Given the description of an element on the screen output the (x, y) to click on. 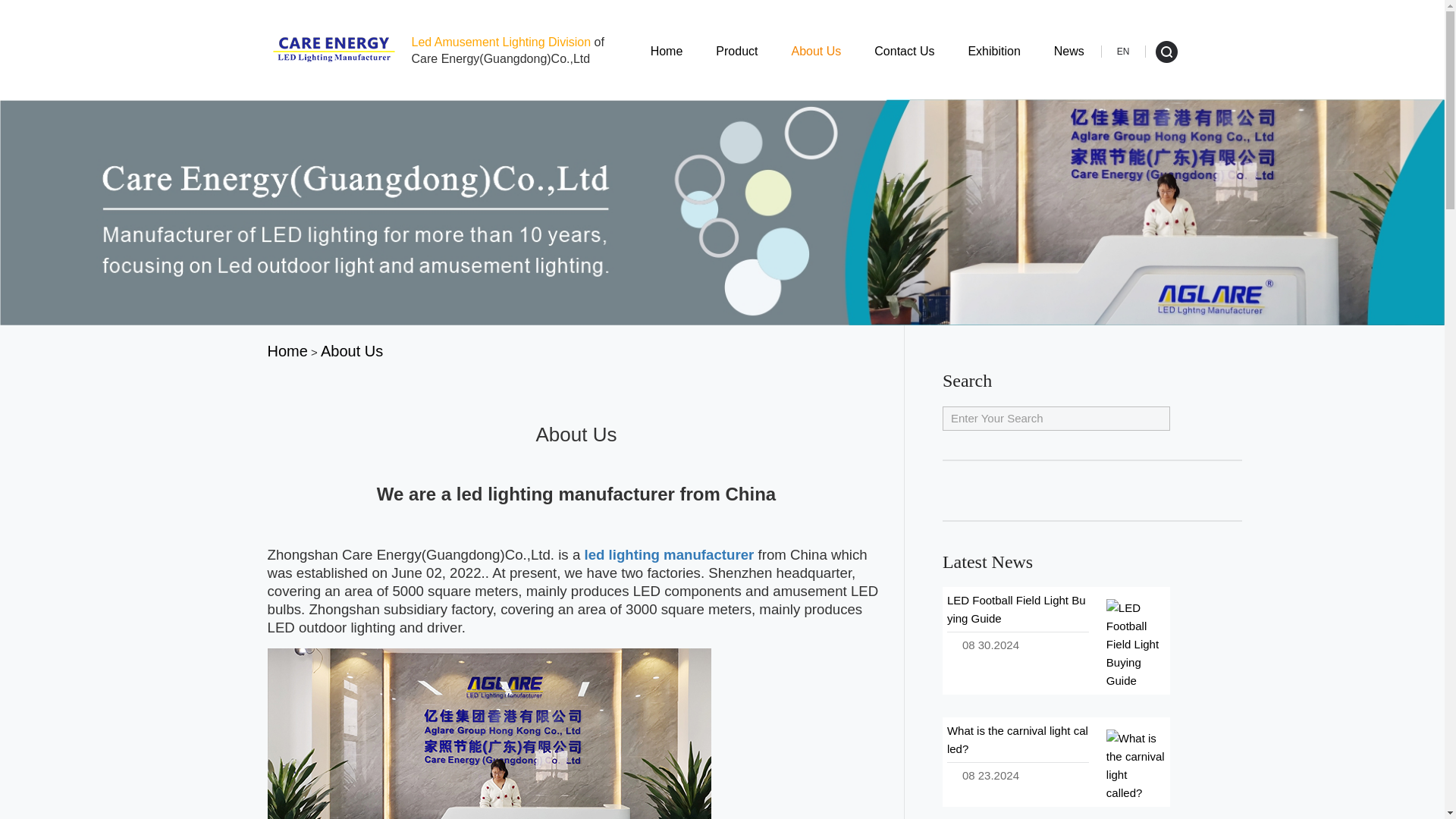
Product (736, 51)
Home (666, 51)
About Us (815, 51)
News (1068, 51)
EN (1122, 51)
redirect to About Us. (351, 351)
redirect to yijia. (286, 351)
Exhibition (993, 51)
Contact Us (903, 51)
